Given the description of an element on the screen output the (x, y) to click on. 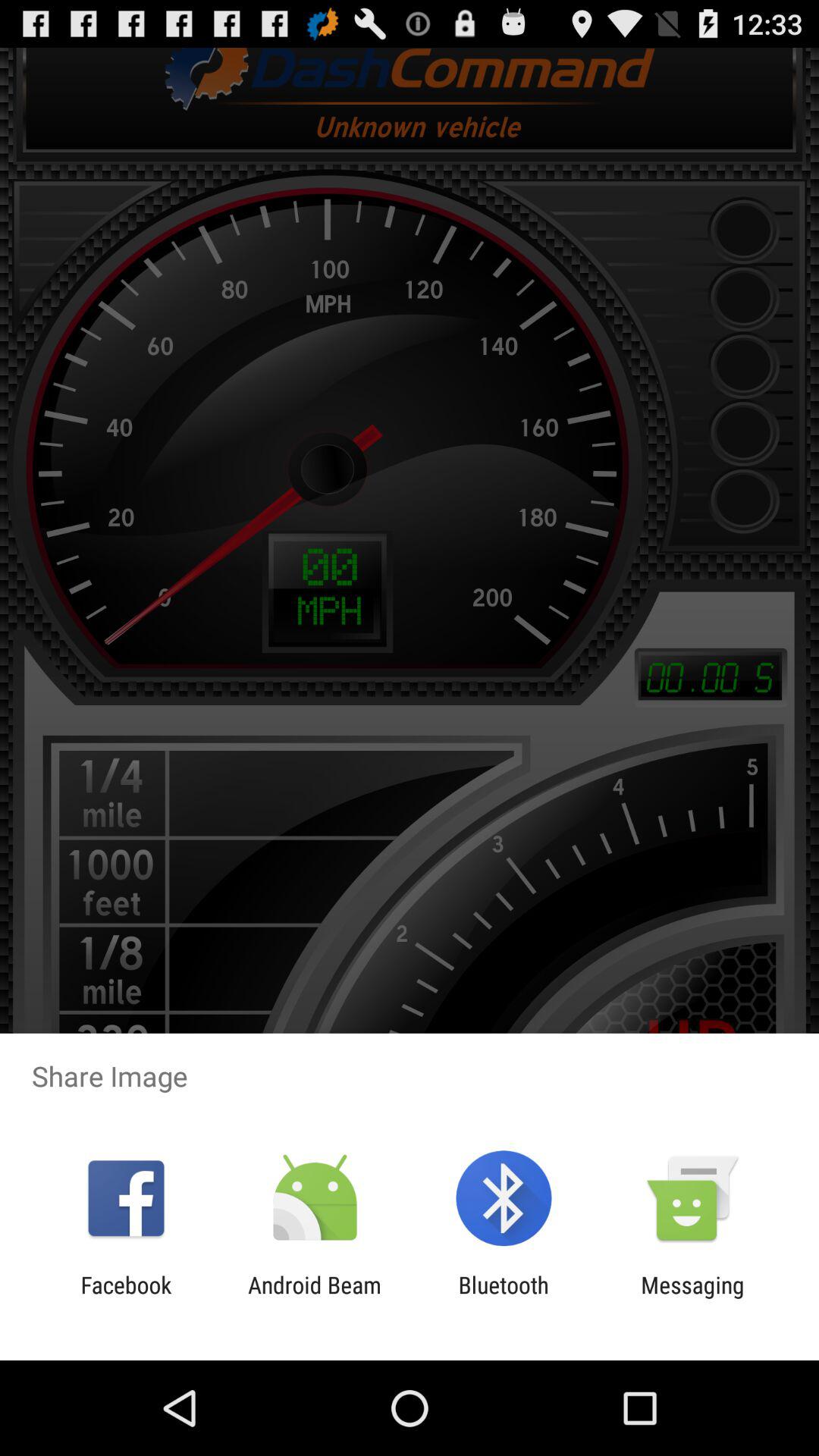
press the app next to the facebook item (314, 1298)
